Given the description of an element on the screen output the (x, y) to click on. 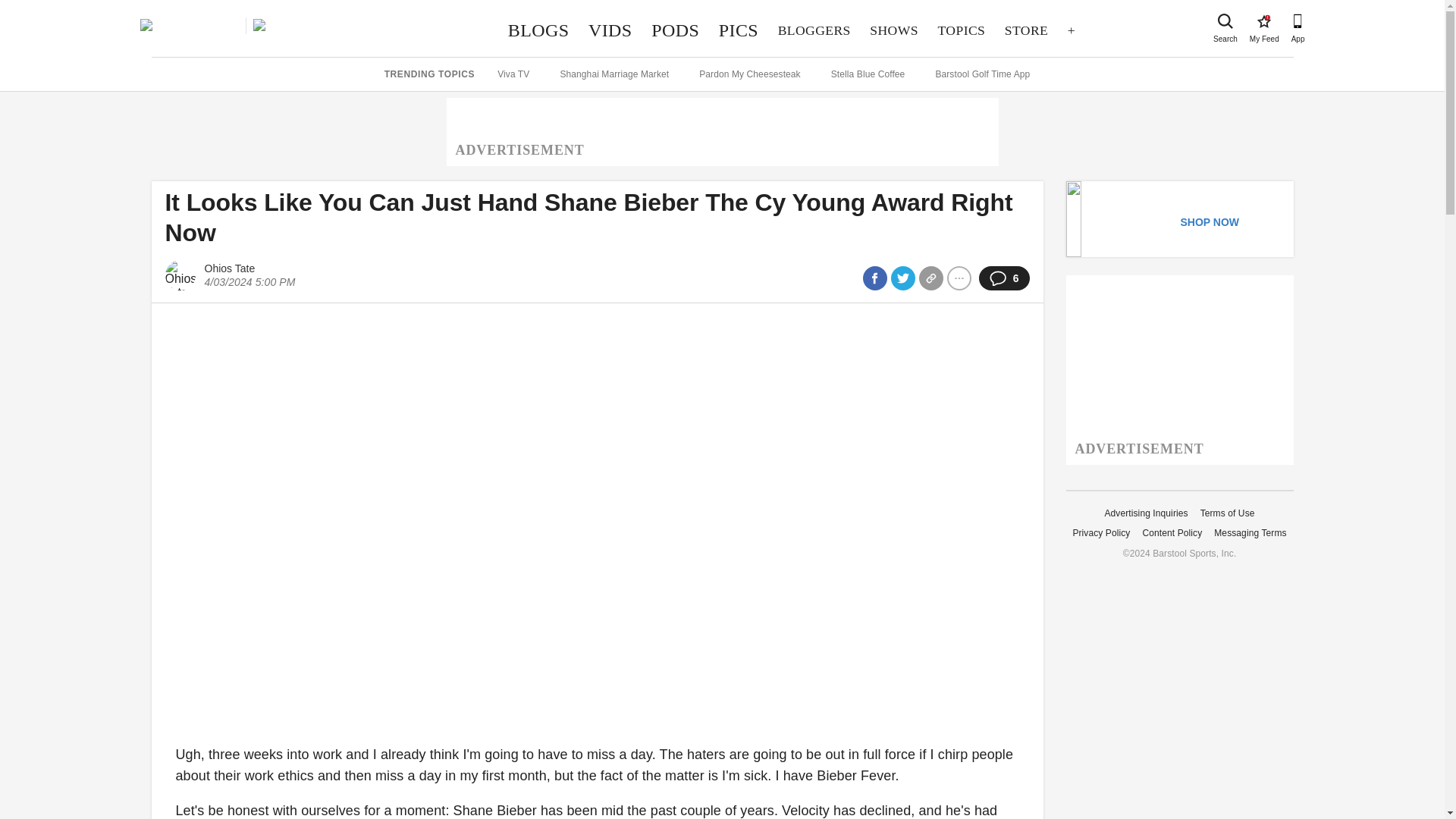
BLOGGERS (814, 30)
PICS (738, 30)
TOPICS (961, 30)
VIDS (610, 30)
BLOGS (537, 30)
STORE (1263, 20)
SHOWS (1026, 30)
Search (894, 30)
PODS (1225, 20)
